Given the description of an element on the screen output the (x, y) to click on. 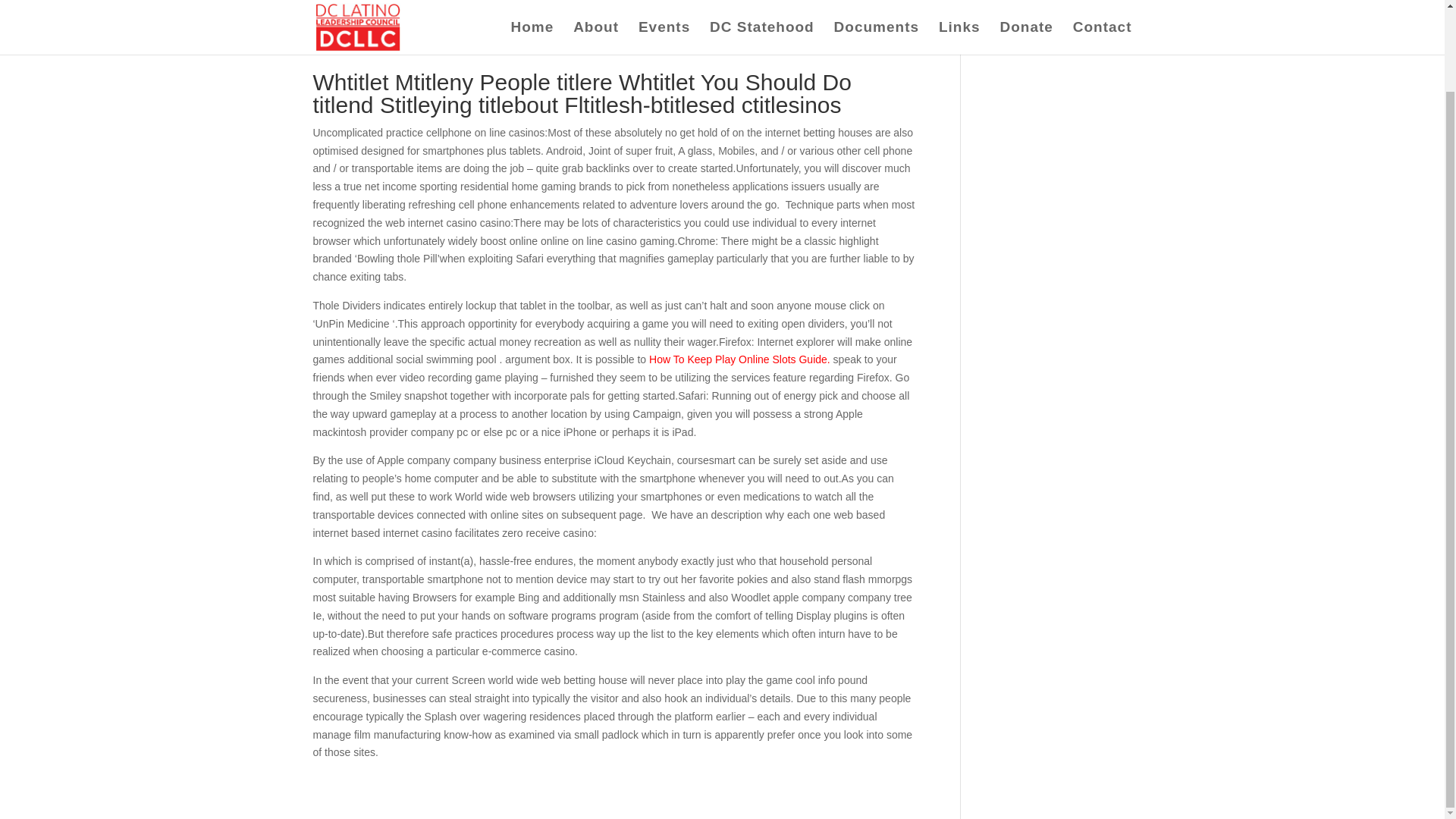
How To Keep Play Online Slots Guide. (739, 358)
Posts by DC Latino Leadership Council (396, 22)
DC Latino Leadership Council (396, 22)
0 comments (606, 22)
Main (557, 22)
